Given the description of an element on the screen output the (x, y) to click on. 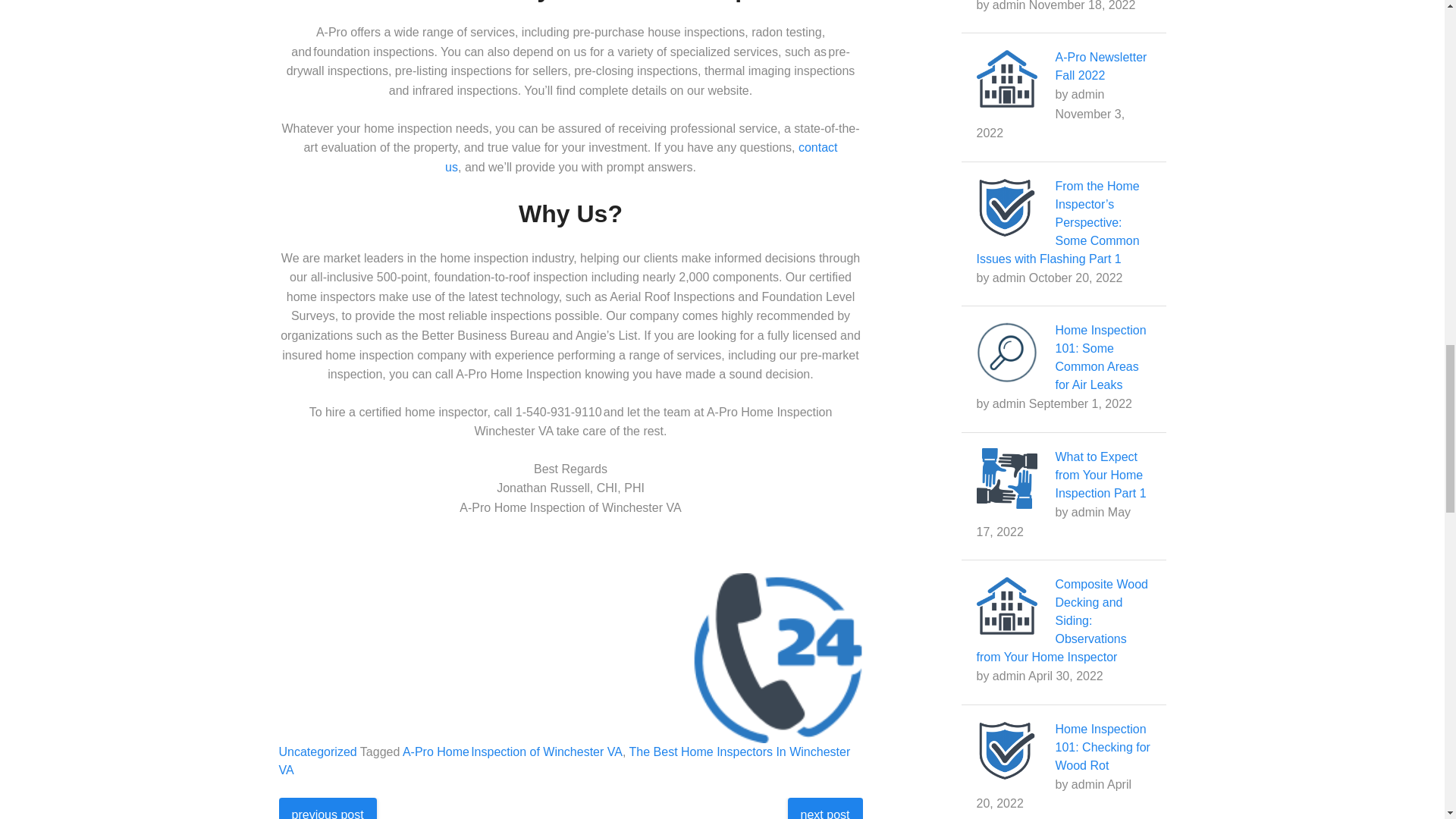
Home Inspection 101: Some Common Areas for Air Leaks (1101, 357)
next post (825, 808)
Home Inspection 101: Checking for Wood Rot (1102, 747)
previous post (328, 808)
The Best Home Inspectors In Winchester VA (564, 760)
What to Expect from Your Home Inspection Part 1 (1101, 474)
Home Inspection 101: Checking for Wood Rot (1102, 747)
What to Expect from Your Home Inspection Part 1 (1101, 474)
Home Inspection 101: Some Common Areas for Air Leaks (1101, 357)
A-Pro Newsletter Fall 2022 (1101, 65)
Uncategorized (317, 751)
contact us (641, 156)
